Given the description of an element on the screen output the (x, y) to click on. 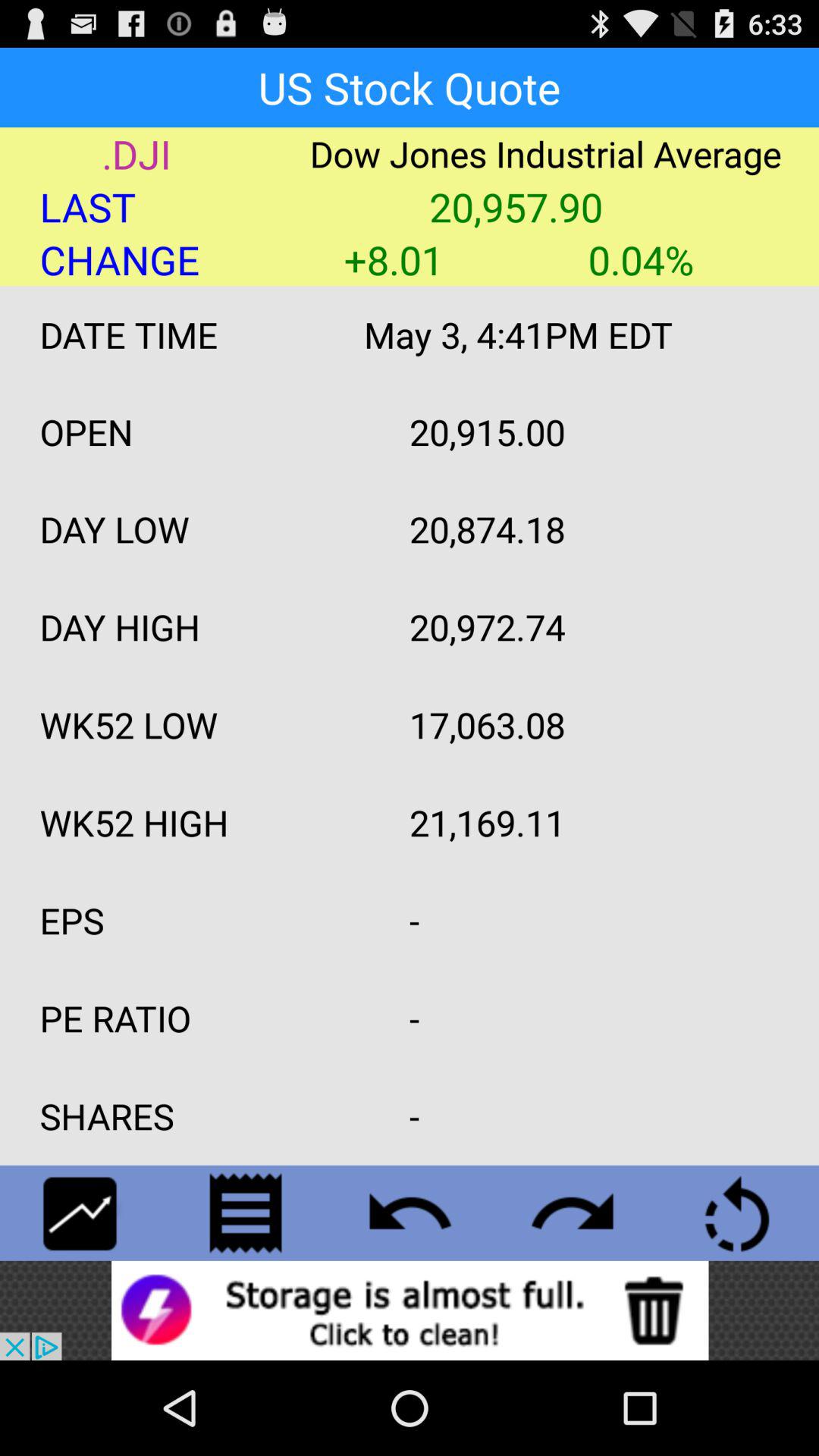
next (573, 1212)
